Given the description of an element on the screen output the (x, y) to click on. 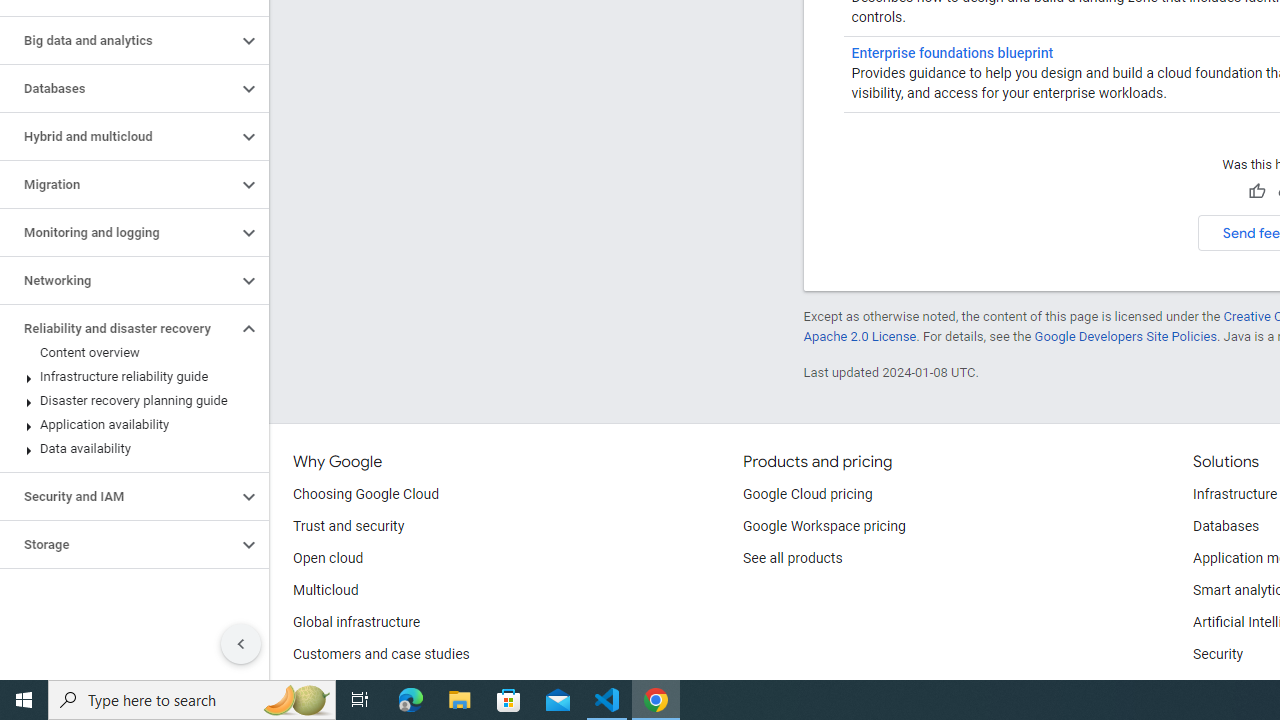
Application availability (130, 425)
Migration (118, 184)
